Given the description of an element on the screen output the (x, y) to click on. 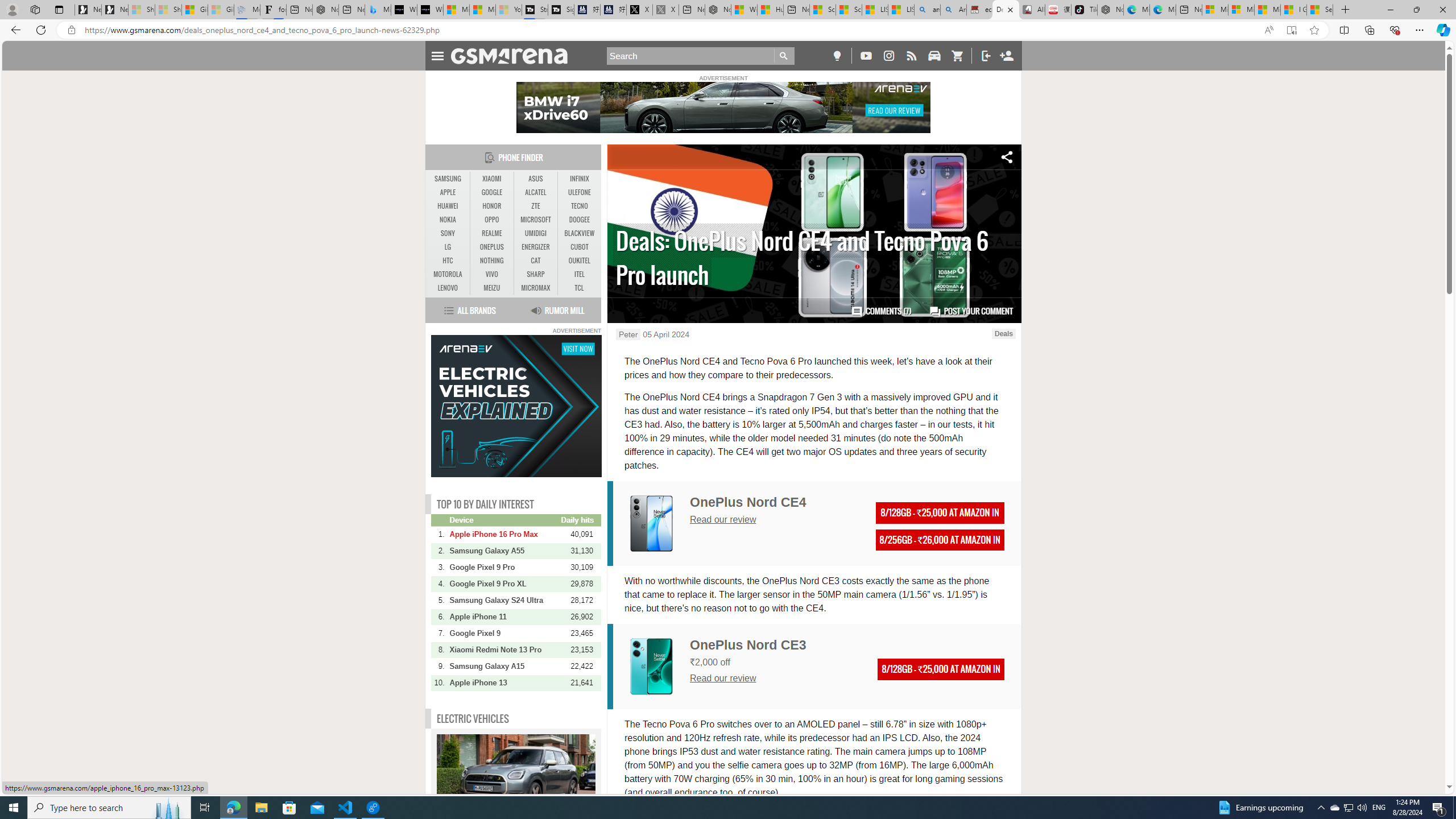
MOTOROLA (448, 273)
APPLE (448, 192)
Apple iPhone 16 Pro Max (504, 534)
ALCATEL (535, 192)
ONEPLUS (491, 246)
ASUS (535, 178)
SAMSUNG (448, 178)
Samsung Galaxy A55 (504, 550)
Samsung Galaxy S24 Ultra (504, 600)
To get missing image descriptions, open the context menu. (515, 405)
